Given the description of an element on the screen output the (x, y) to click on. 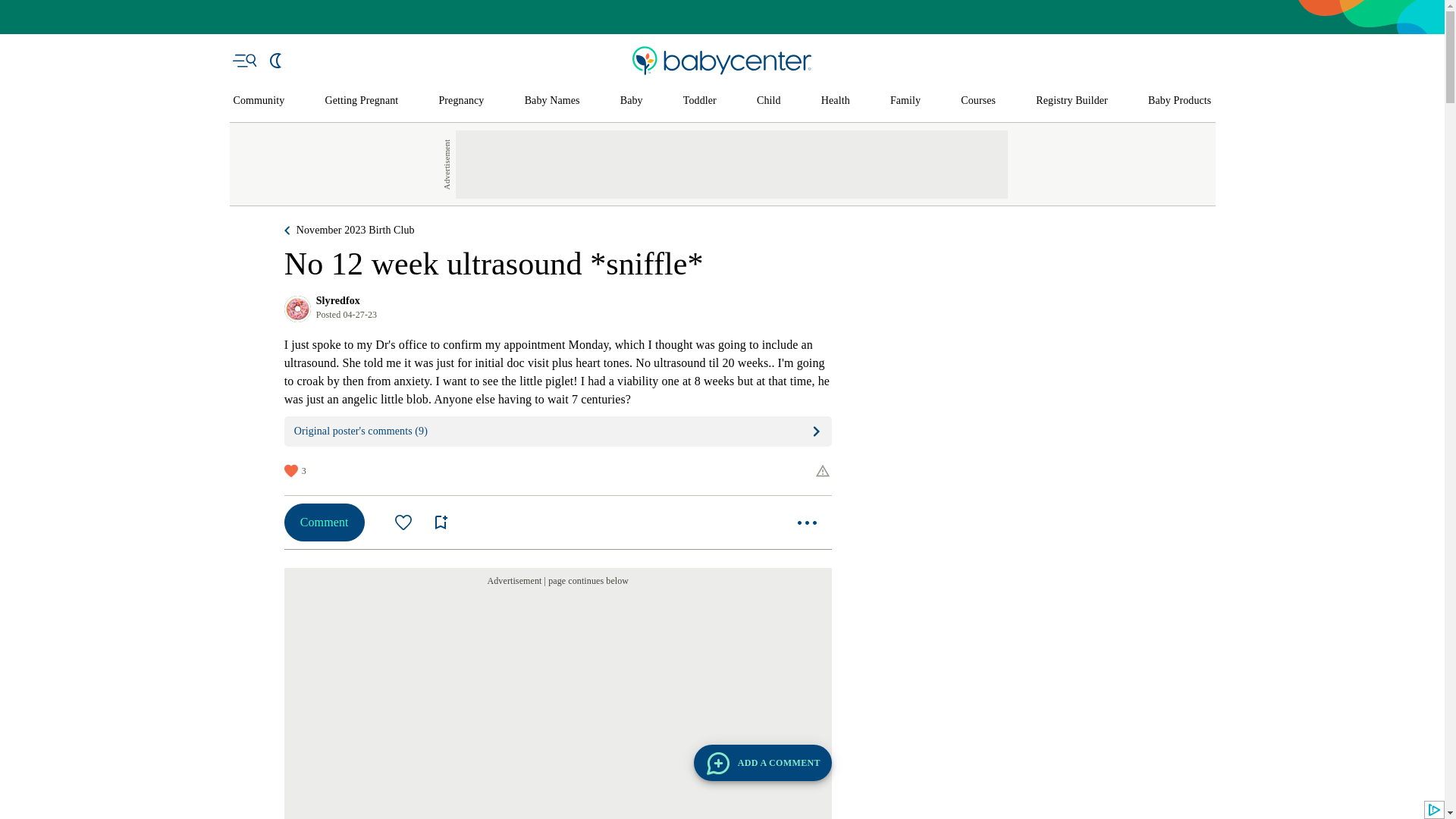
Baby Names (551, 101)
Registry Builder (1071, 101)
Pregnancy (460, 101)
Getting Pregnant (360, 101)
Child (768, 101)
Toddler (699, 101)
Family (904, 101)
Baby Products (1179, 101)
Baby (631, 101)
Health (835, 101)
Courses (977, 101)
Community (258, 101)
